Given the description of an element on the screen output the (x, y) to click on. 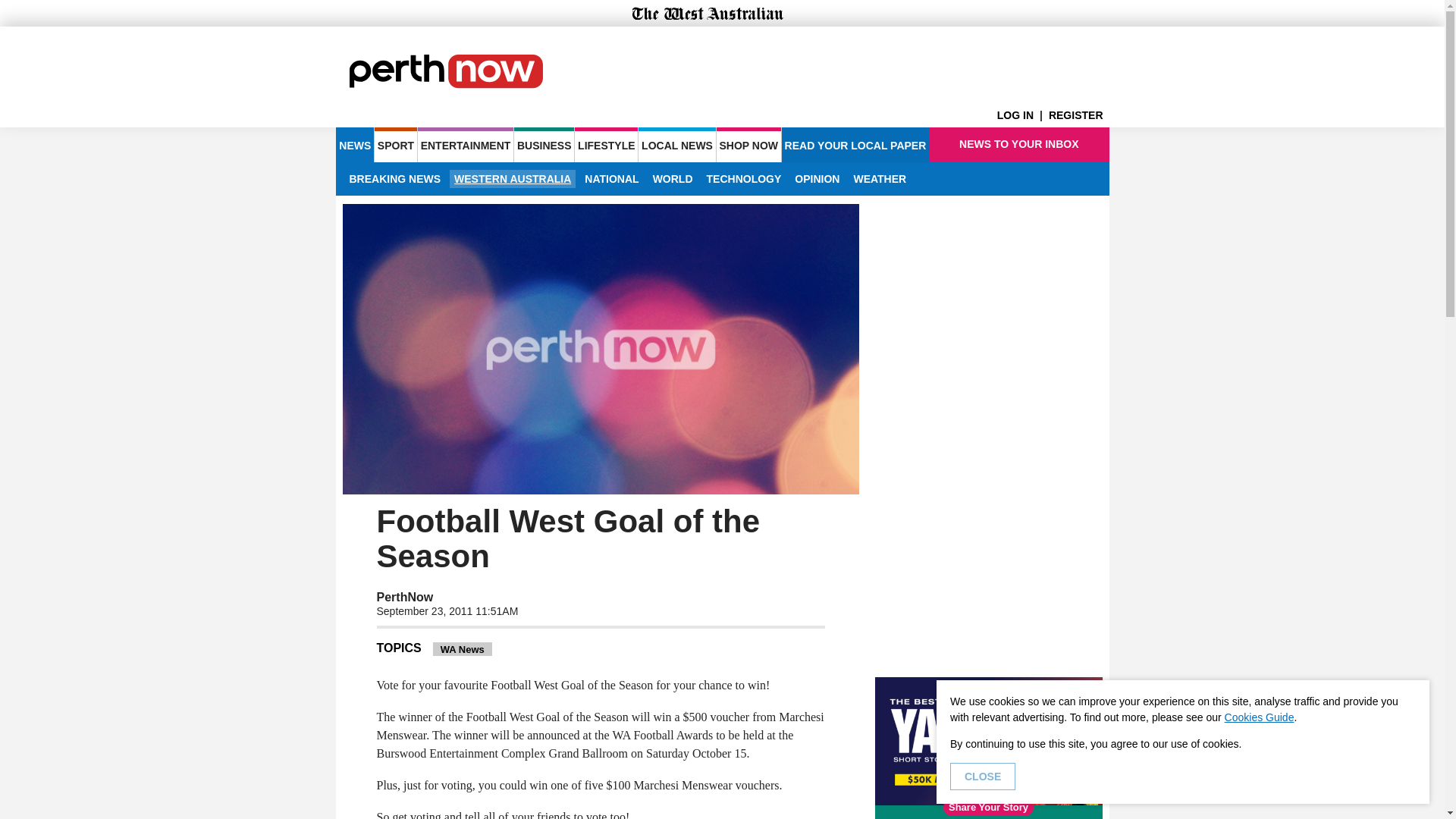
NEWS (354, 144)
LOG IN (1022, 115)
ENTERTAINMENT (465, 144)
BUSINESS (543, 144)
REGISTER (1078, 115)
SPORT (395, 144)
